Given the description of an element on the screen output the (x, y) to click on. 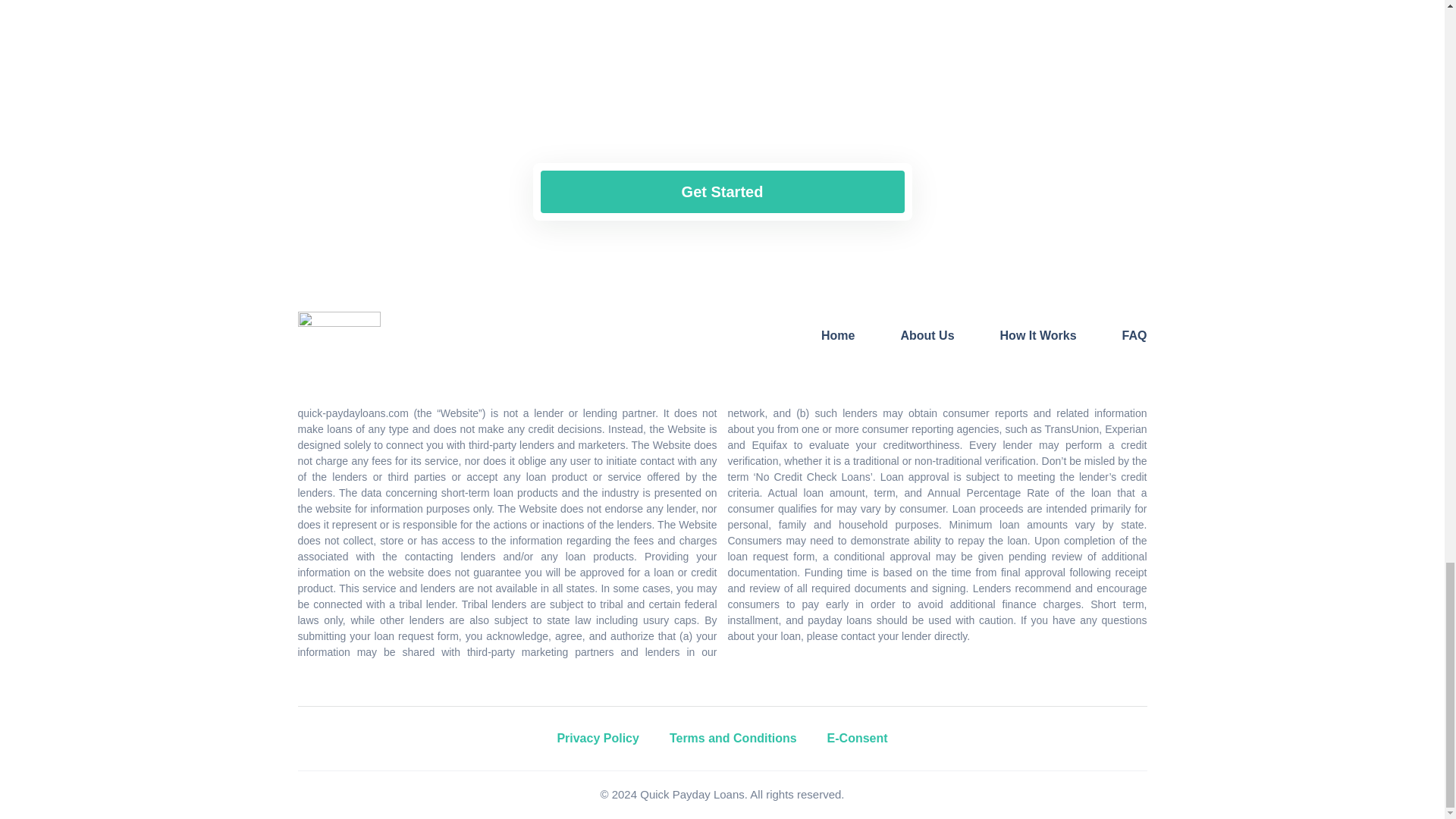
Terms and Conditions (732, 738)
How It Works (1038, 335)
About Us (926, 335)
FAQ (1134, 335)
Get Started (722, 191)
Home (837, 335)
E-Consent (857, 738)
Privacy Policy (597, 738)
